Given the description of an element on the screen output the (x, y) to click on. 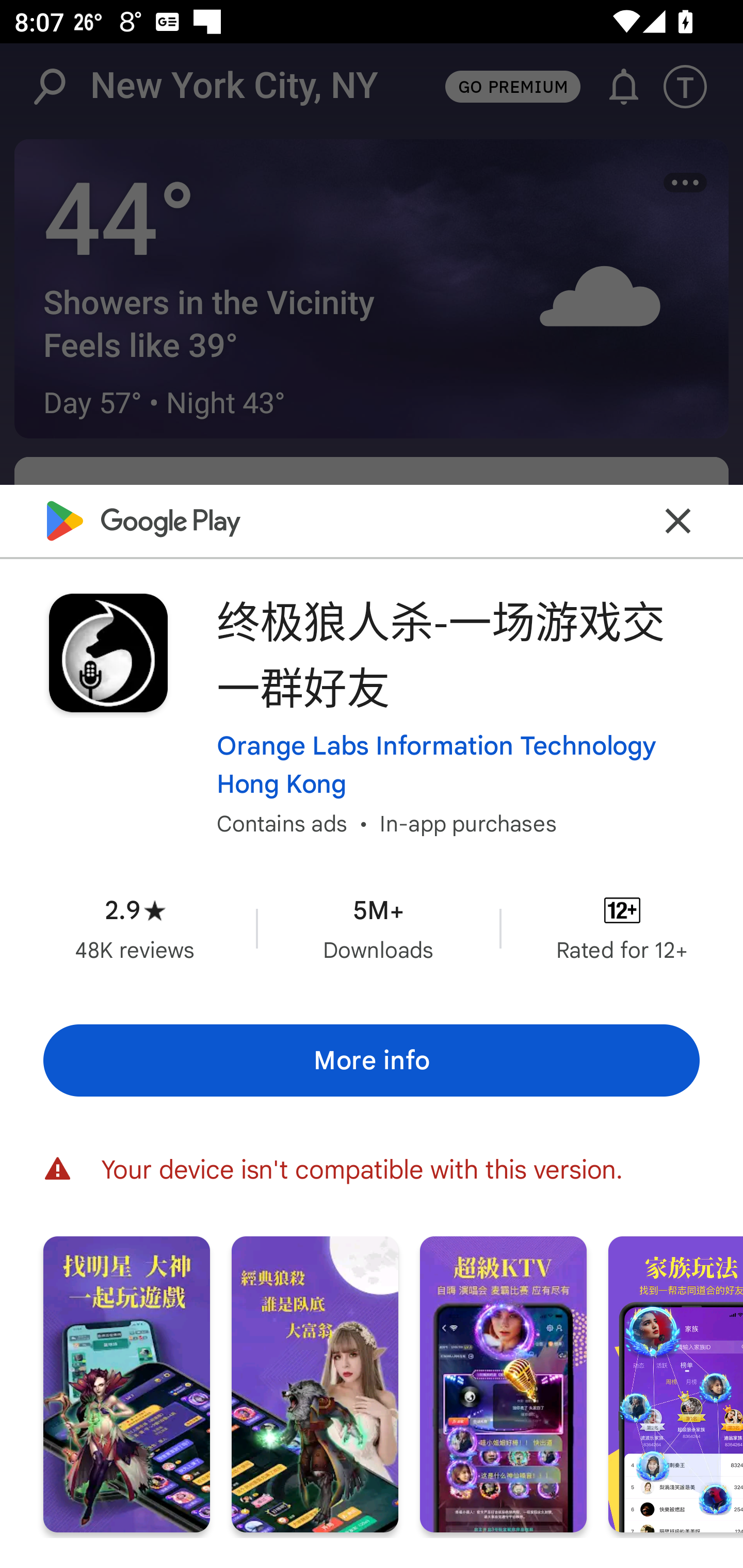
Close (677, 520)
Image of app or game icon for 终极狼人杀-一场游戏交一群好友 (108, 653)
Orange Labs Information Technology Hong Kong (457, 763)
More info (371, 1059)
Screenshot "1" of "8" (126, 1383)
Screenshot "2" of "8" (314, 1383)
Screenshot "3" of "8" (502, 1383)
Screenshot "4" of "8" (675, 1383)
